Given the description of an element on the screen output the (x, y) to click on. 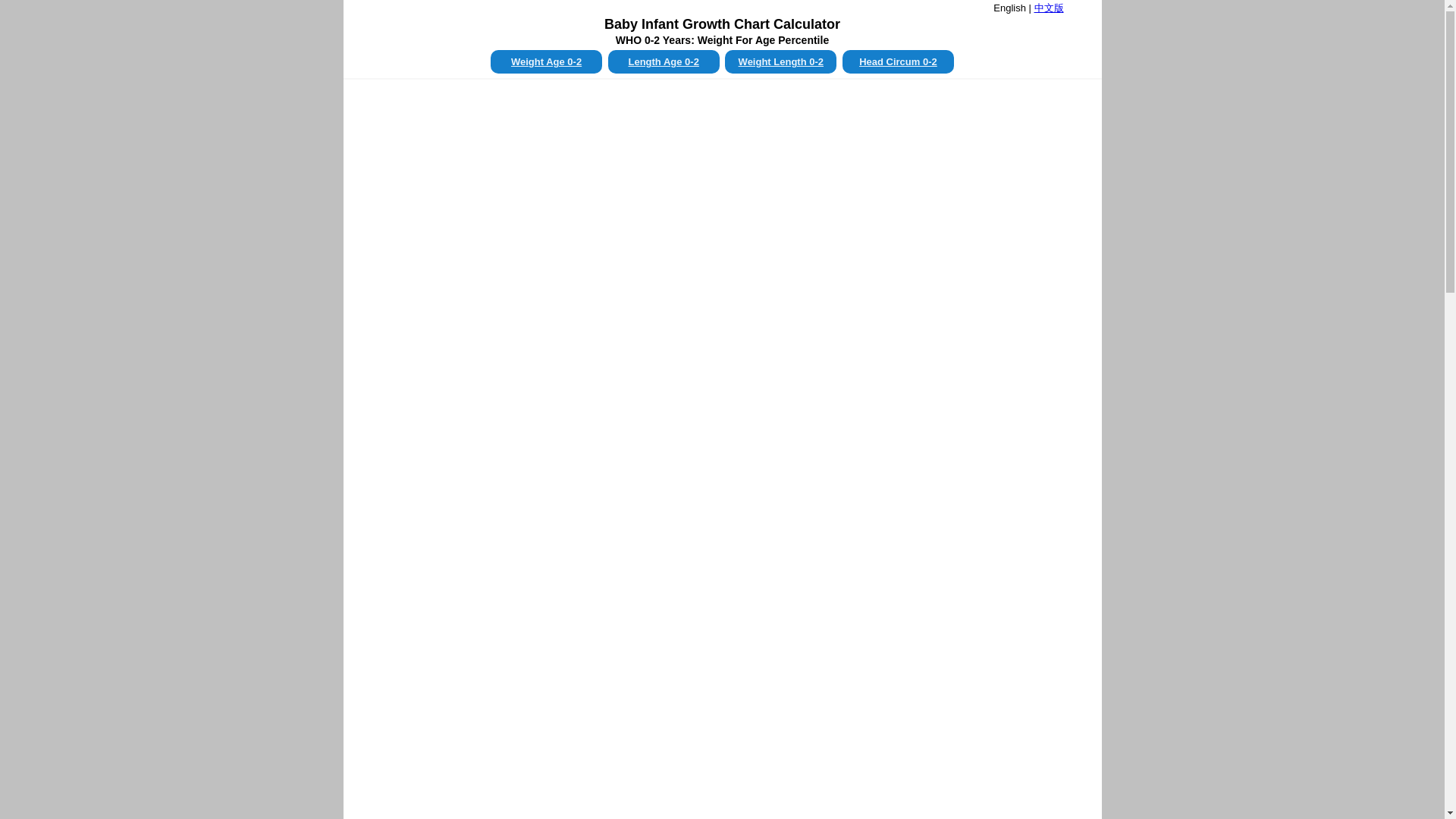
Length Age 0-2 (663, 61)
Head Circum 0-2 (898, 61)
Weight Length 0-2 (780, 61)
Weight Age 0-2 (546, 61)
